Given the description of an element on the screen output the (x, y) to click on. 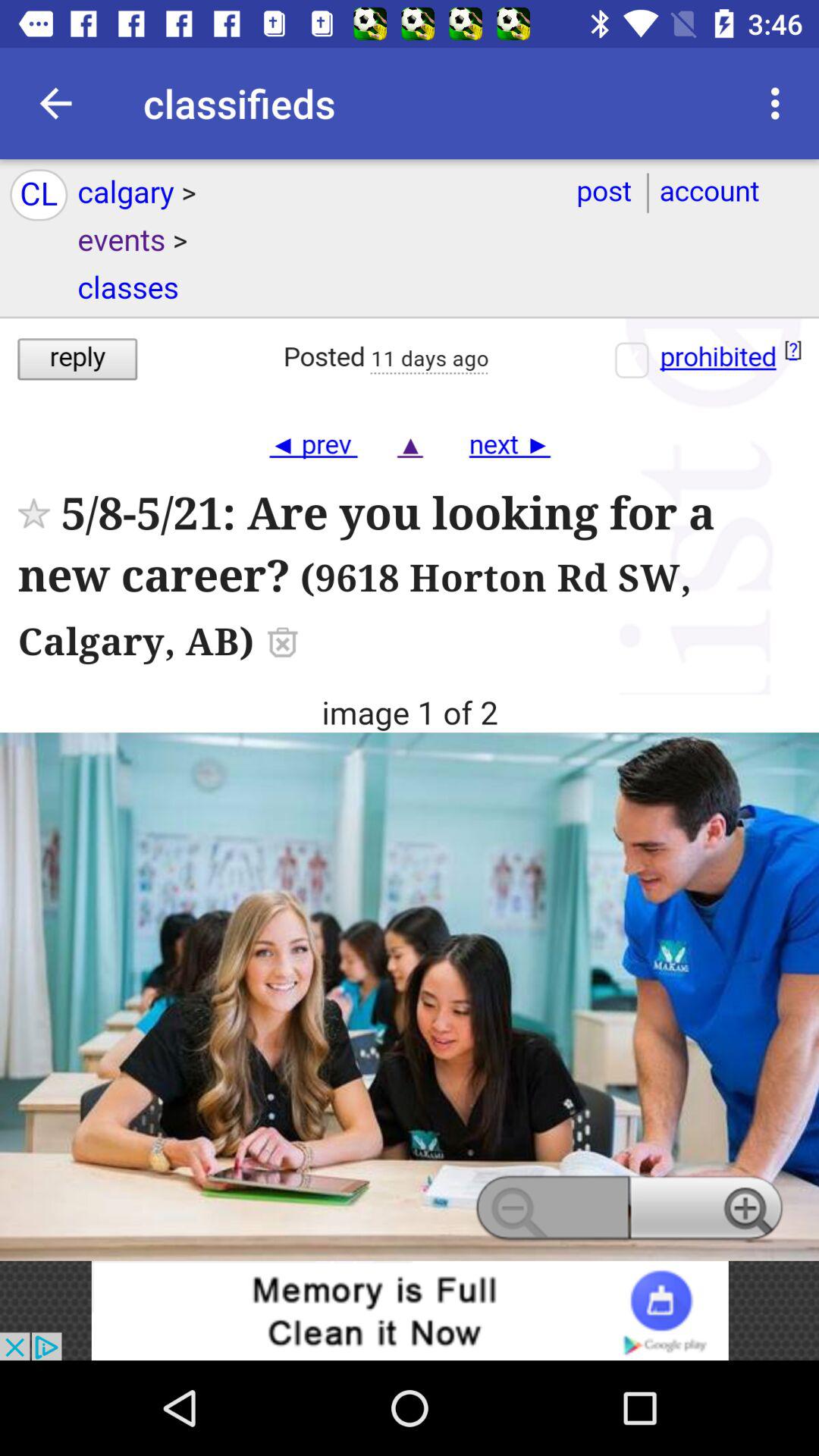
advertising bar (409, 1310)
